Given the description of an element on the screen output the (x, y) to click on. 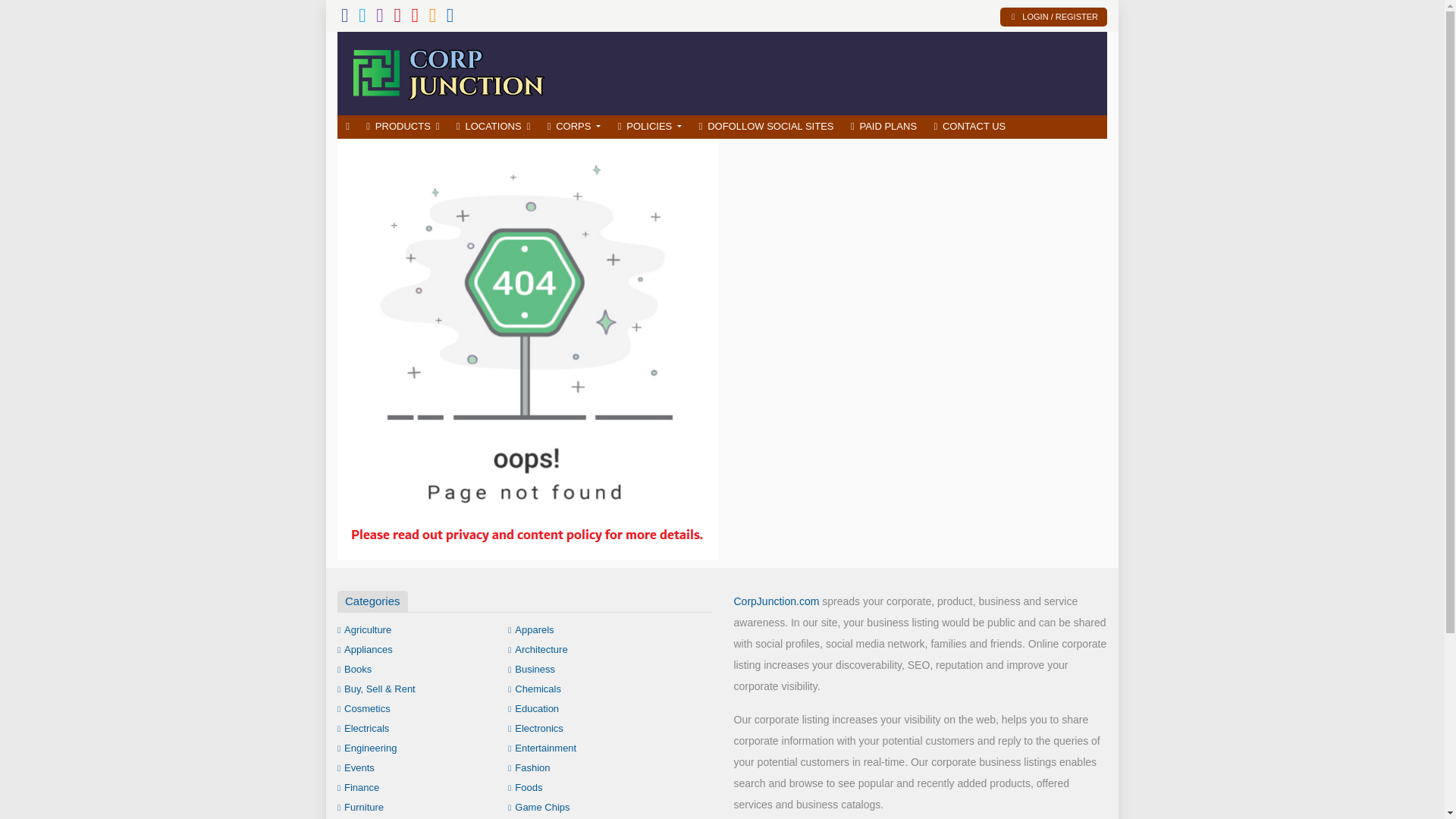
LOCATIONS (493, 126)
Web Discovery Service for People to Discover Great Products (447, 71)
PRODUCTS (403, 126)
